Given the description of an element on the screen output the (x, y) to click on. 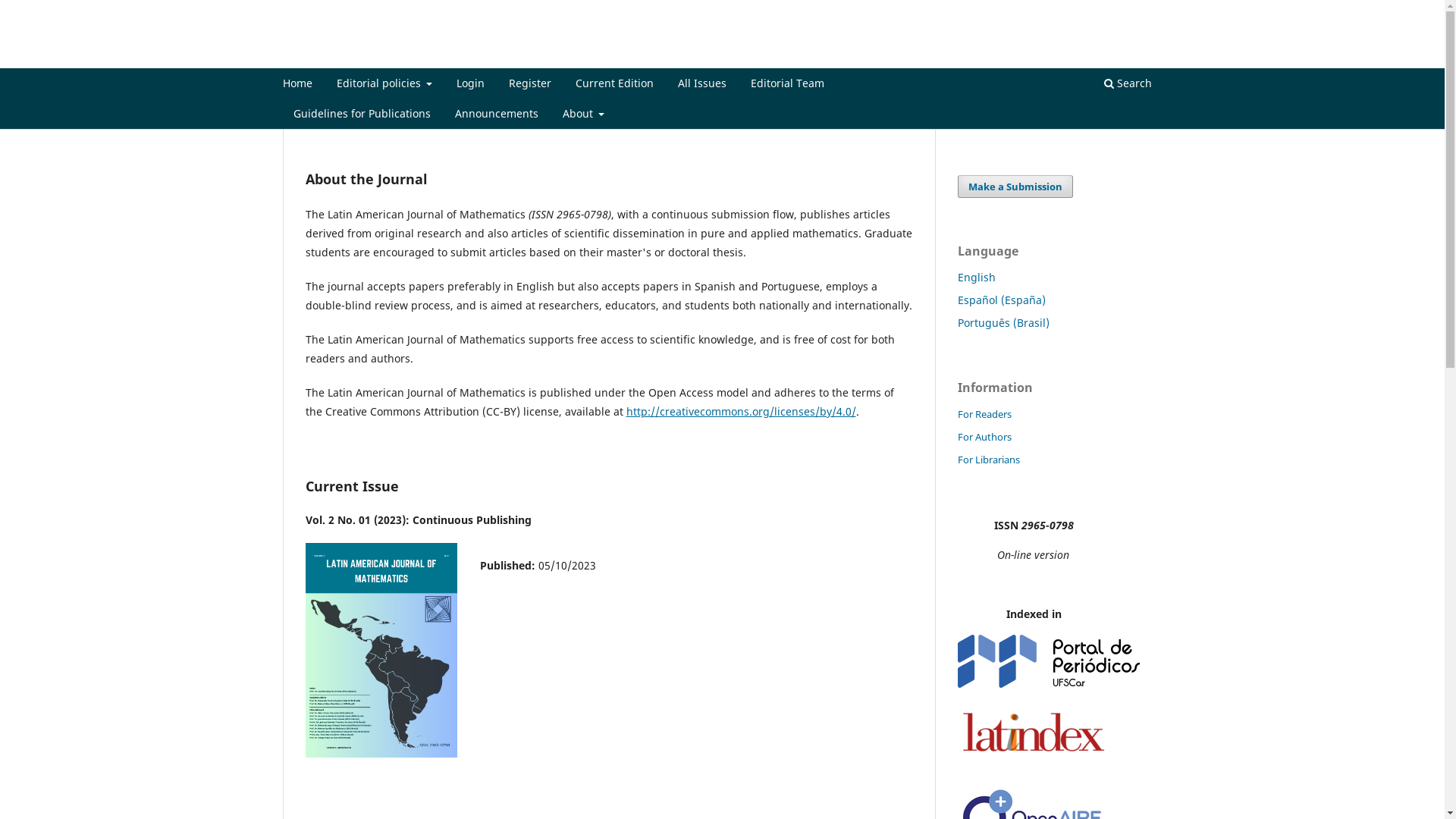
About Element type: text (582, 115)
For Readers Element type: text (983, 413)
http://creativecommons.org/licenses/by/4.0/ Element type: text (741, 411)
All Issues Element type: text (701, 85)
Guidelines for Publications Element type: text (362, 115)
Login Element type: text (470, 85)
Login Element type: text (1149, 11)
Make a Submission Element type: text (1014, 186)
For Librarians Element type: text (988, 459)
Editorial Team Element type: text (787, 85)
Latin American Journal of Mathematics Element type: text (461, 56)
Search Element type: text (1127, 85)
Current Edition Element type: text (614, 85)
Editorial policies Element type: text (383, 85)
Announcements Element type: text (495, 115)
English Element type: text (975, 276)
For Authors Element type: text (983, 436)
Home Element type: text (297, 85)
Register Element type: text (529, 85)
Register Element type: text (1100, 11)
